Given the description of an element on the screen output the (x, y) to click on. 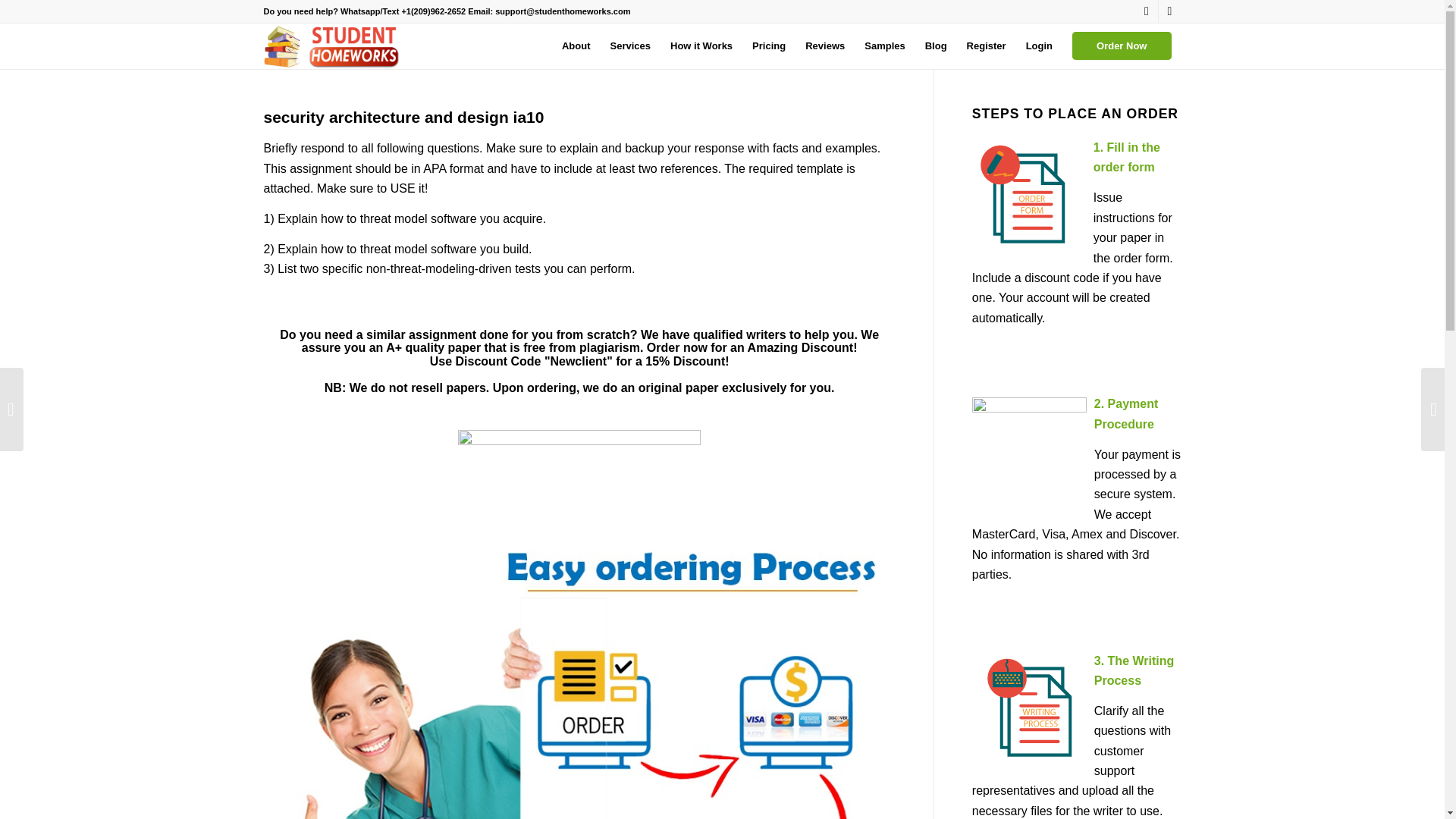
Twitter (1146, 11)
Order Now (1121, 45)
Blog (935, 45)
Services (630, 45)
How it Works (701, 45)
Pricing (768, 45)
Register (986, 45)
Dribbble (1169, 11)
Samples (884, 45)
Asset-3 (334, 45)
